Given the description of an element on the screen output the (x, y) to click on. 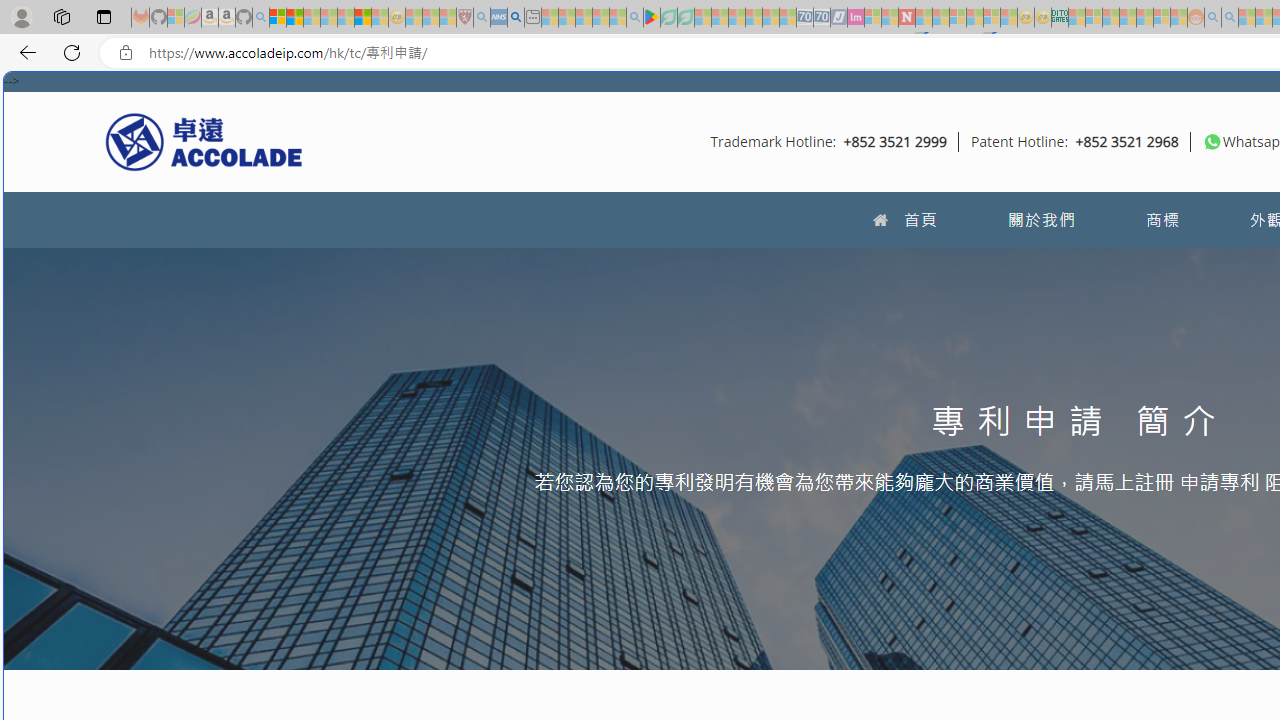
Microsoft-Report a Concern to Bing - Sleeping (175, 17)
list of asthma inhalers uk - Search - Sleeping (481, 17)
Microsoft Start - Sleeping (1247, 17)
google - Search - Sleeping (634, 17)
Microsoft account | Privacy - Sleeping (1093, 17)
Terms of Use Agreement - Sleeping (668, 17)
New Report Confirms 2023 Was Record Hot | Watch - Sleeping (345, 17)
The Weather Channel - MSN - Sleeping (311, 17)
